Given the description of an element on the screen output the (x, y) to click on. 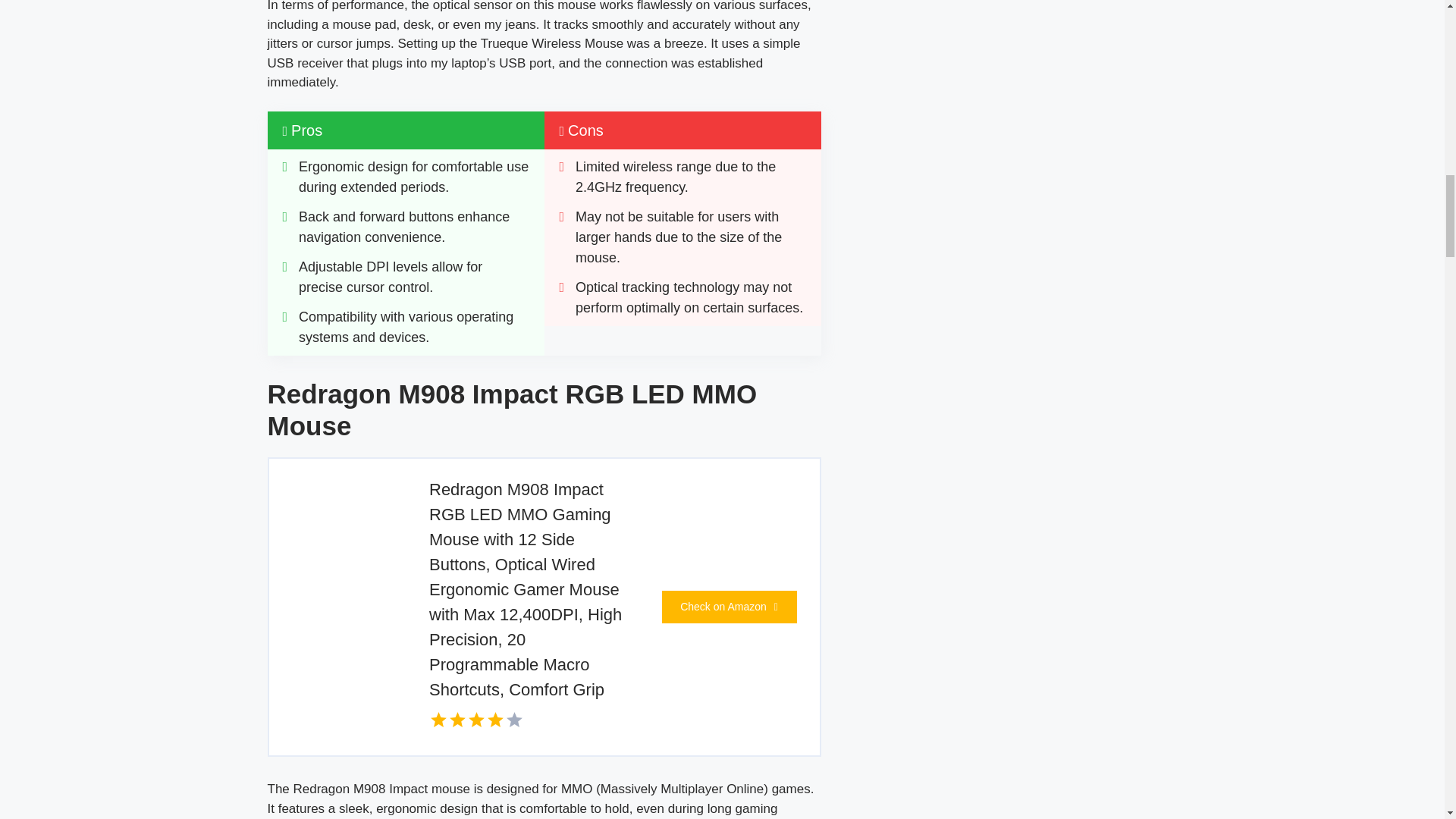
Check on Amazon (728, 606)
